Given the description of an element on the screen output the (x, y) to click on. 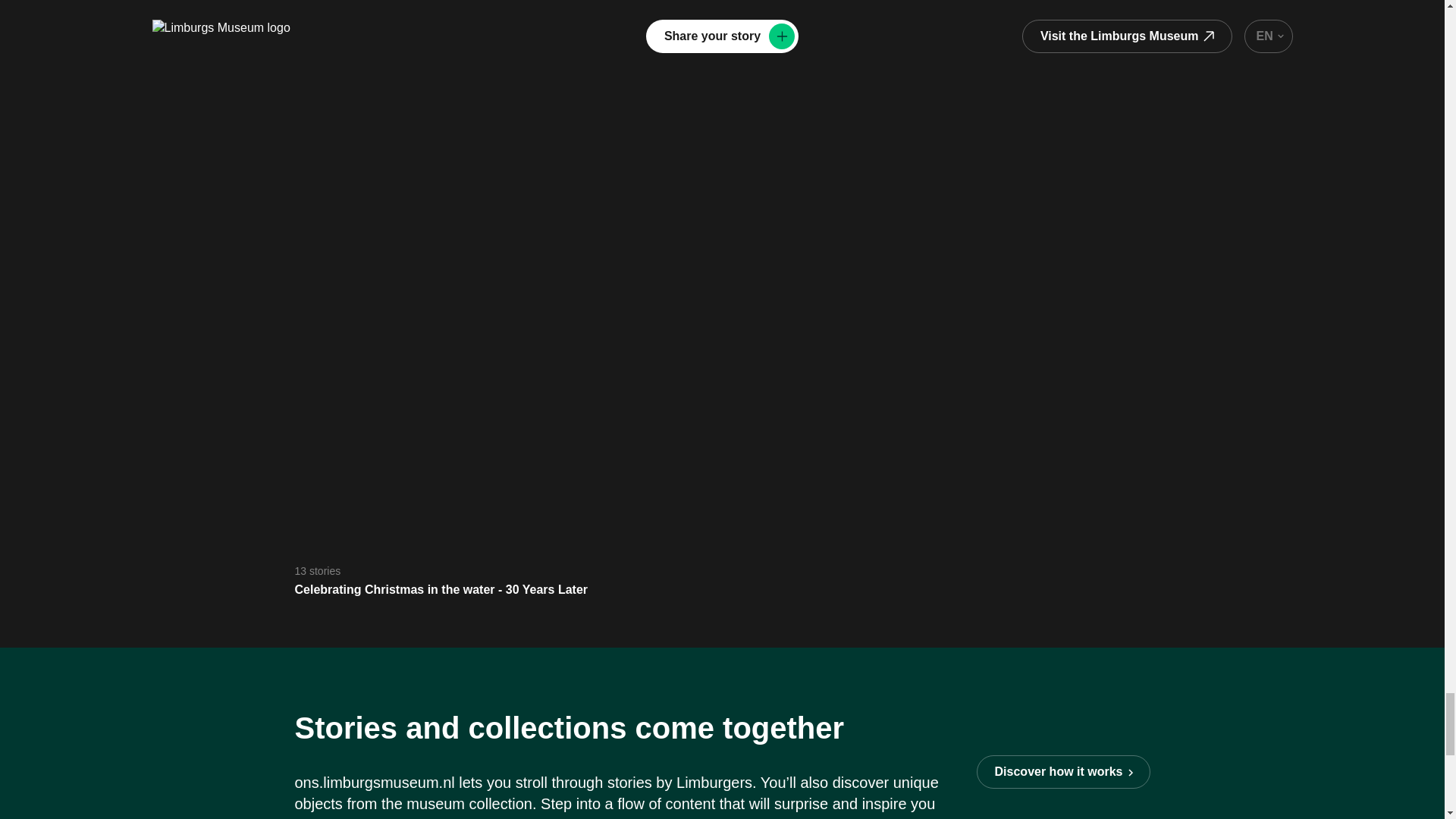
Discover how it works (1063, 771)
